Given the description of an element on the screen output the (x, y) to click on. 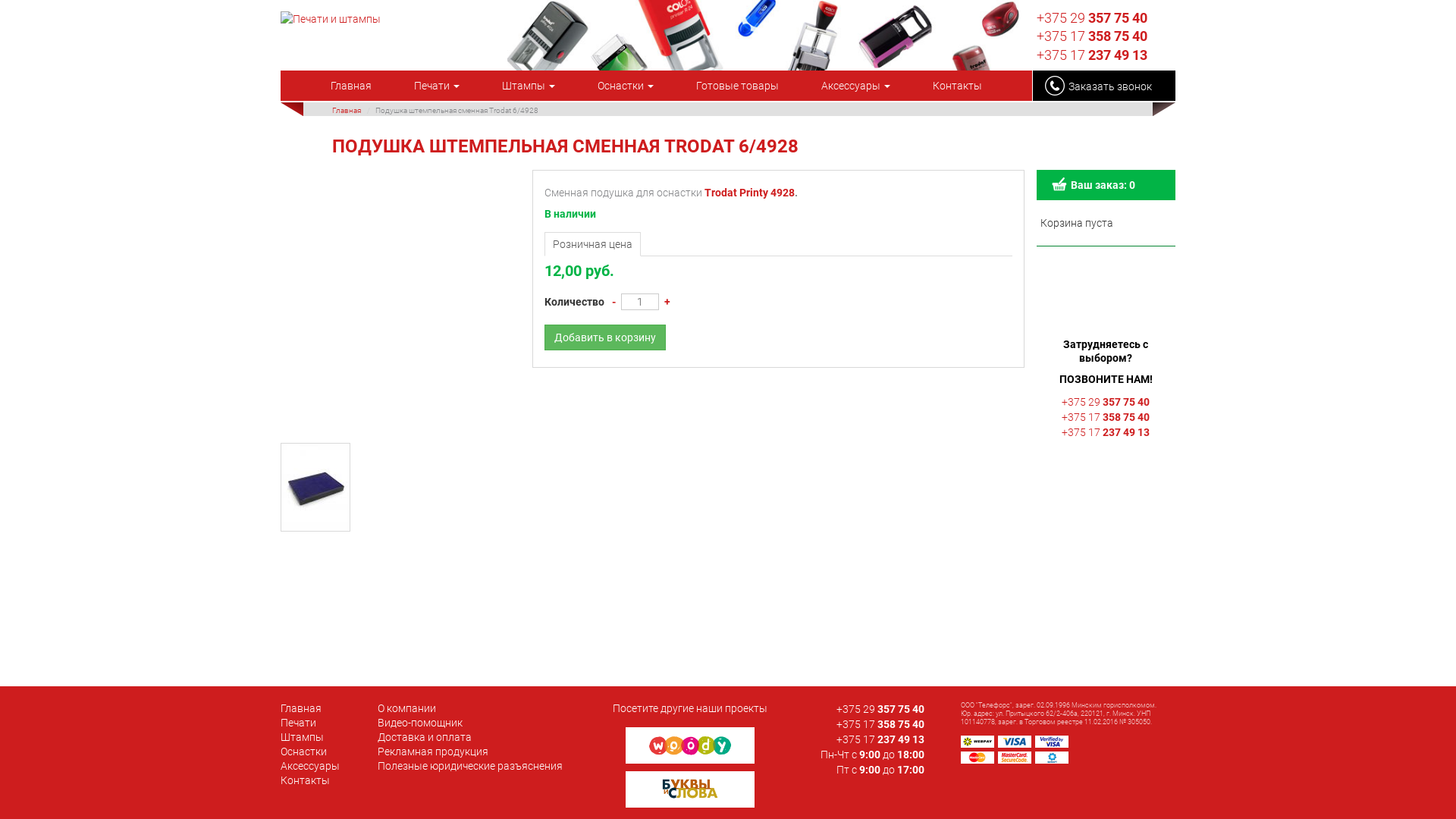
+375 29 357 75 40 Element type: text (1105, 401)
Trodat Printy 4928 Element type: text (749, 192)
+375 17 358 75 40 Element type: text (880, 724)
+375 17 237 49 13 Element type: text (1091, 54)
+375 17 358 75 40 Element type: text (1105, 417)
- Element type: text (613, 301)
+ Element type: text (666, 301)
+375 29 357 75 40 Element type: text (1091, 17)
+375 17 237 49 13 Element type: text (880, 739)
+375 29 357 75 40 Element type: text (880, 708)
+375 17 358 75 40 Element type: text (1091, 35)
+375 17 237 49 13 Element type: text (1105, 432)
